Given the description of an element on the screen output the (x, y) to click on. 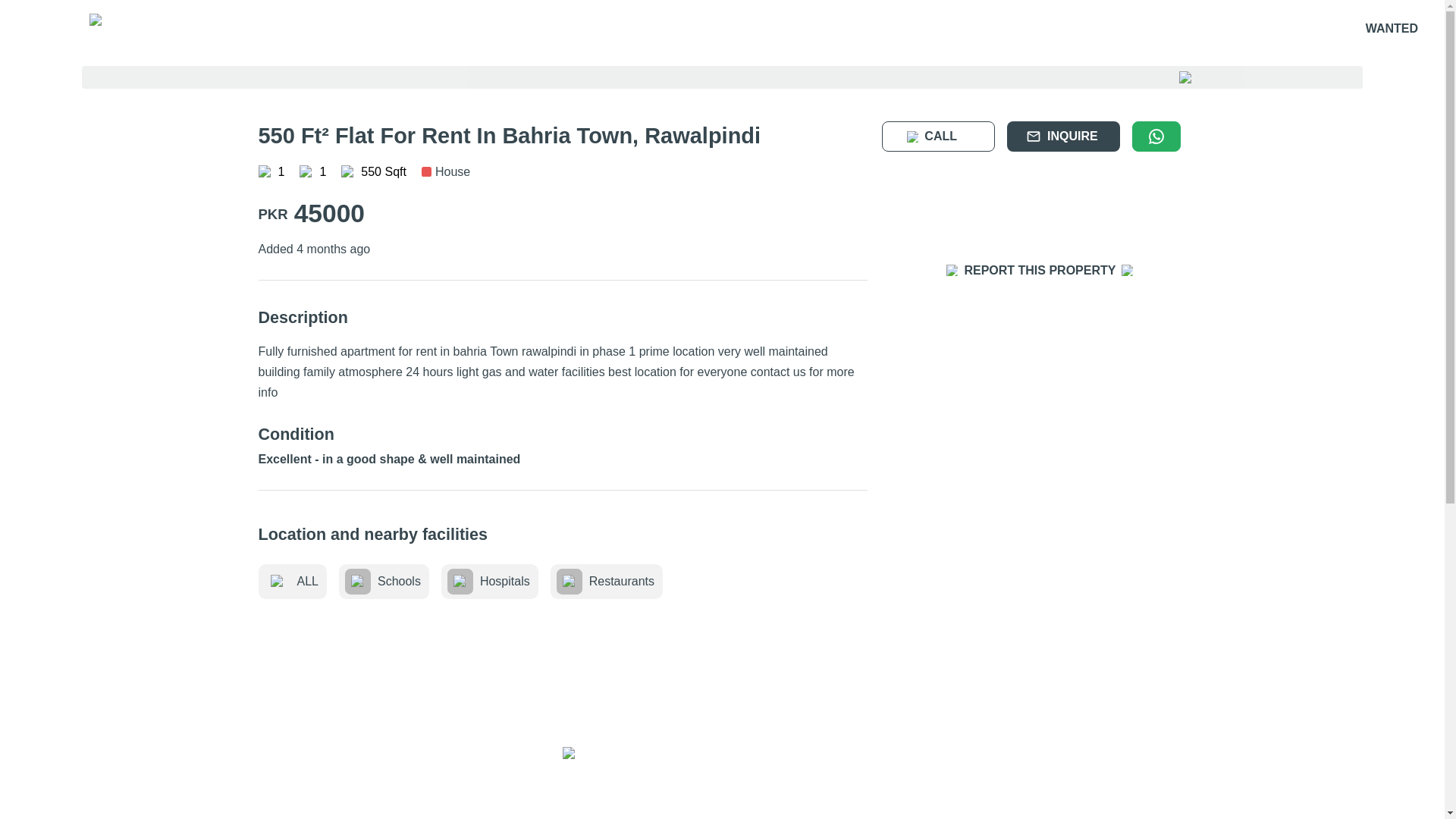
RENT (415, 28)
INVEST (469, 28)
INVEST (471, 28)
WANTED (1391, 28)
WANTED (1393, 27)
SELL (366, 28)
INQUIRE (1063, 136)
CALL (938, 136)
MORE (523, 28)
BUY (318, 28)
